Given the description of an element on the screen output the (x, y) to click on. 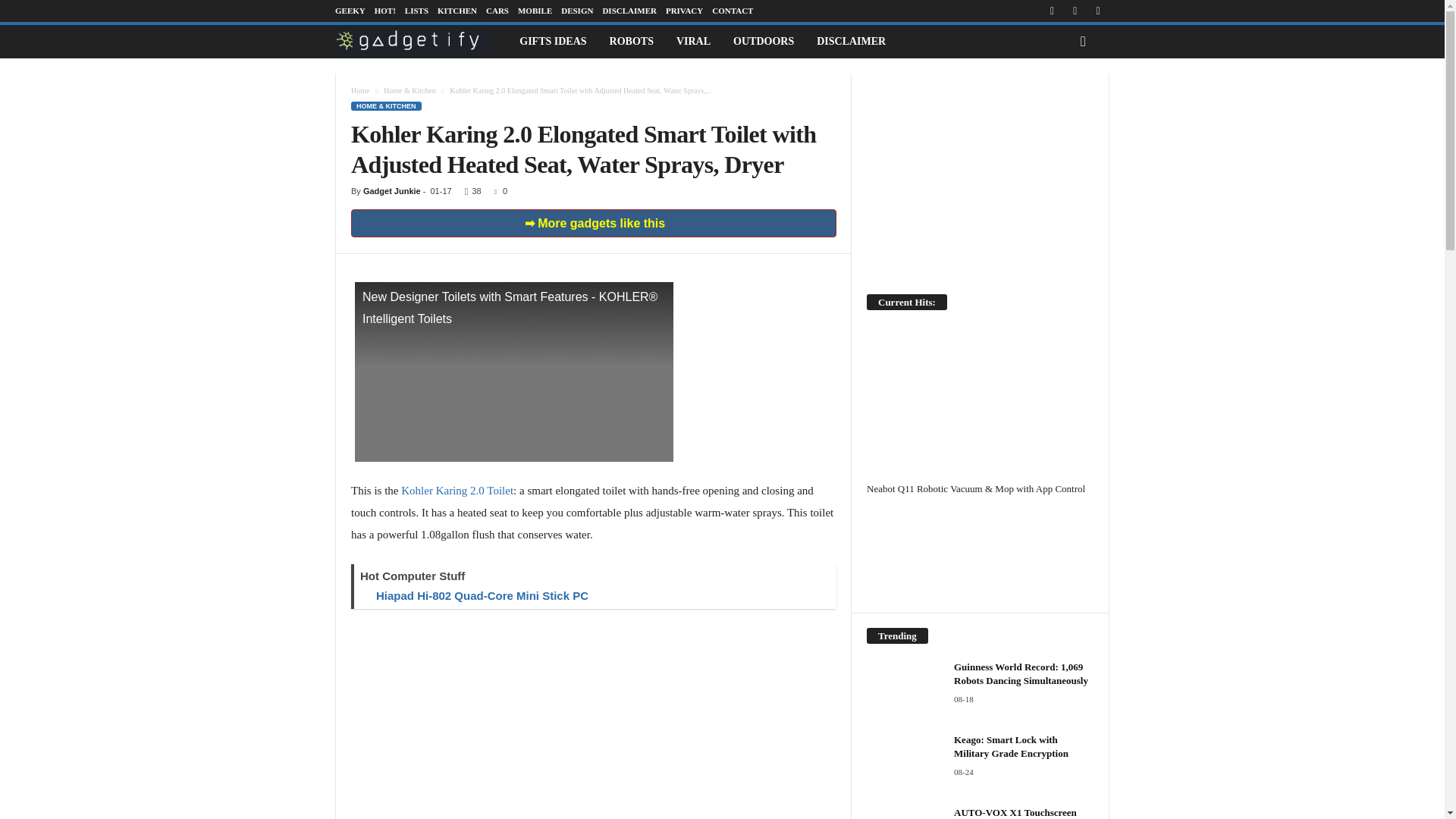
LISTS (416, 10)
GEEKY (349, 10)
HOT! (385, 10)
